Given the description of an element on the screen output the (x, y) to click on. 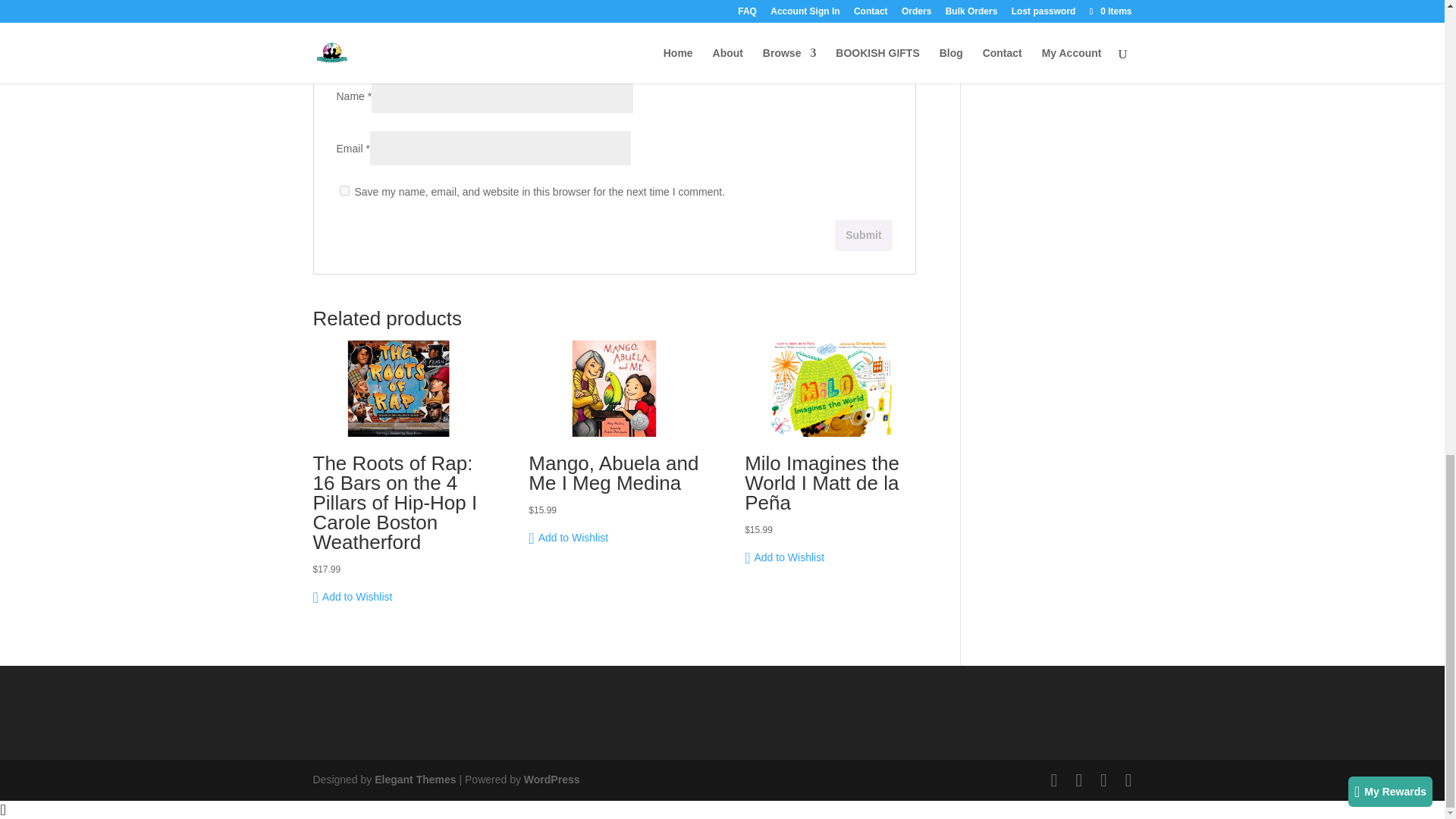
Submit (862, 235)
yes (344, 190)
Premium WordPress Themes (414, 779)
